Given the description of an element on the screen output the (x, y) to click on. 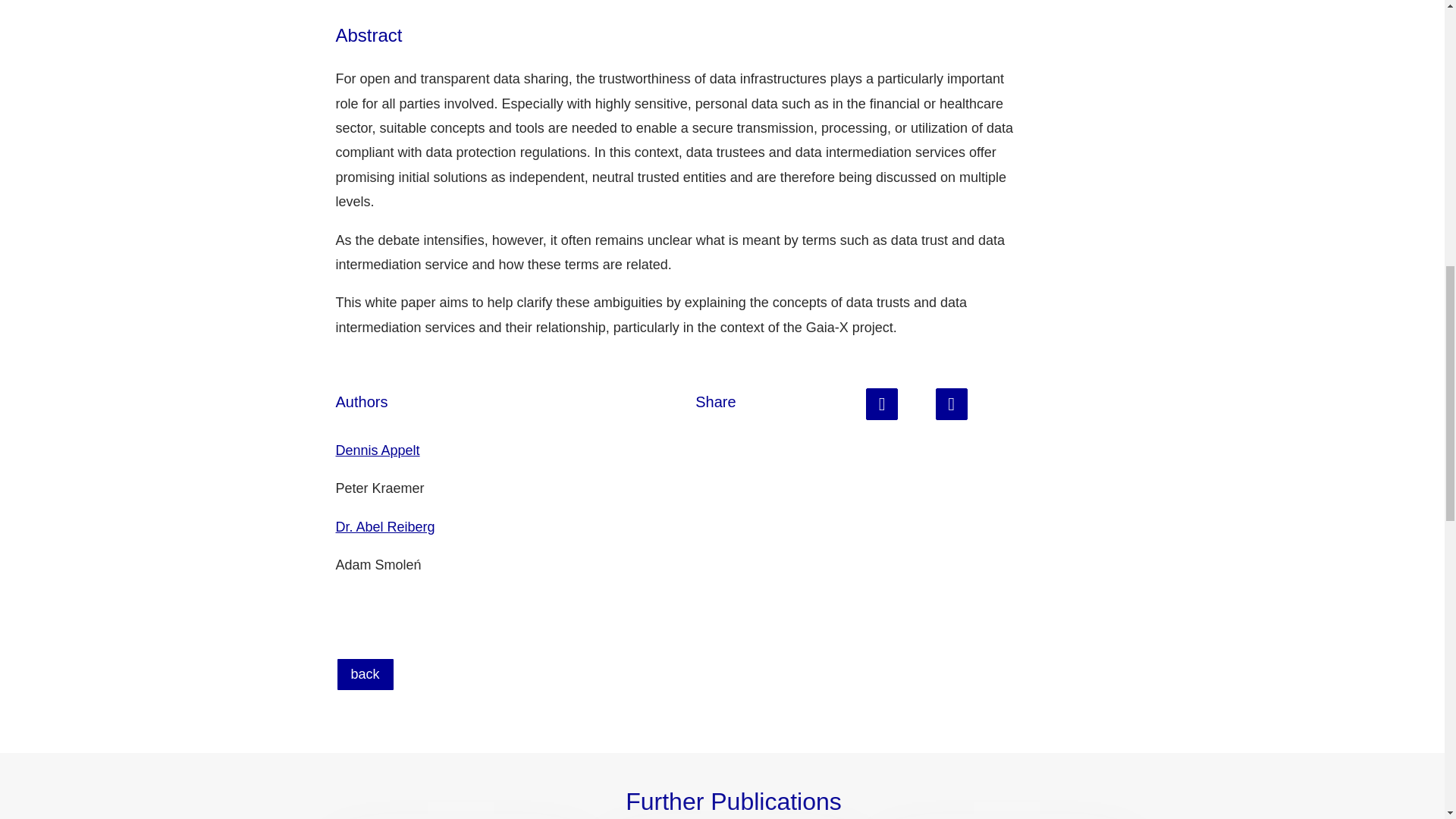
WP-Data-Trusts (882, 415)
WP-Data-Trusts (952, 415)
